Given the description of an element on the screen output the (x, y) to click on. 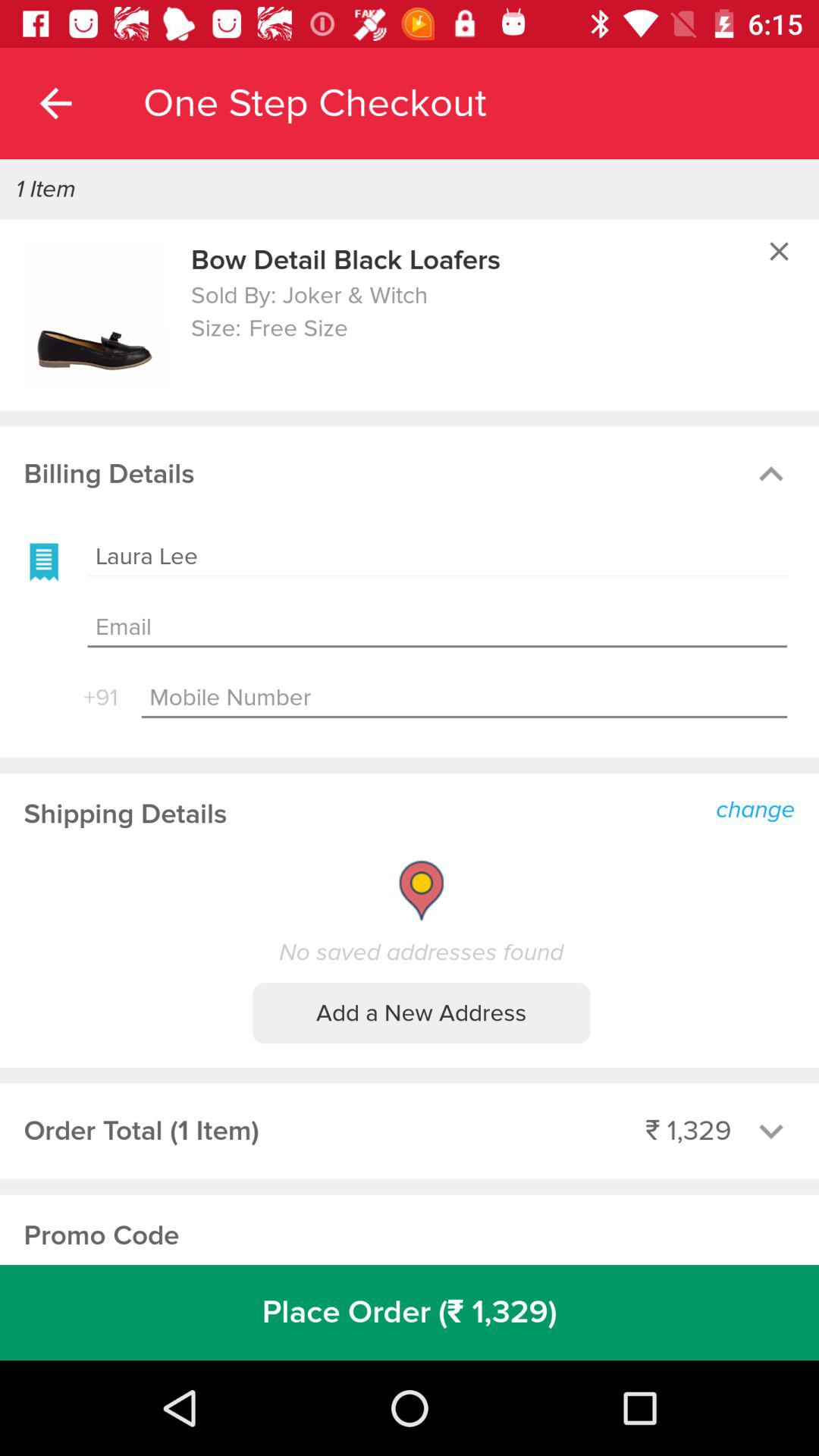
image option (95, 314)
